Given the description of an element on the screen output the (x, y) to click on. 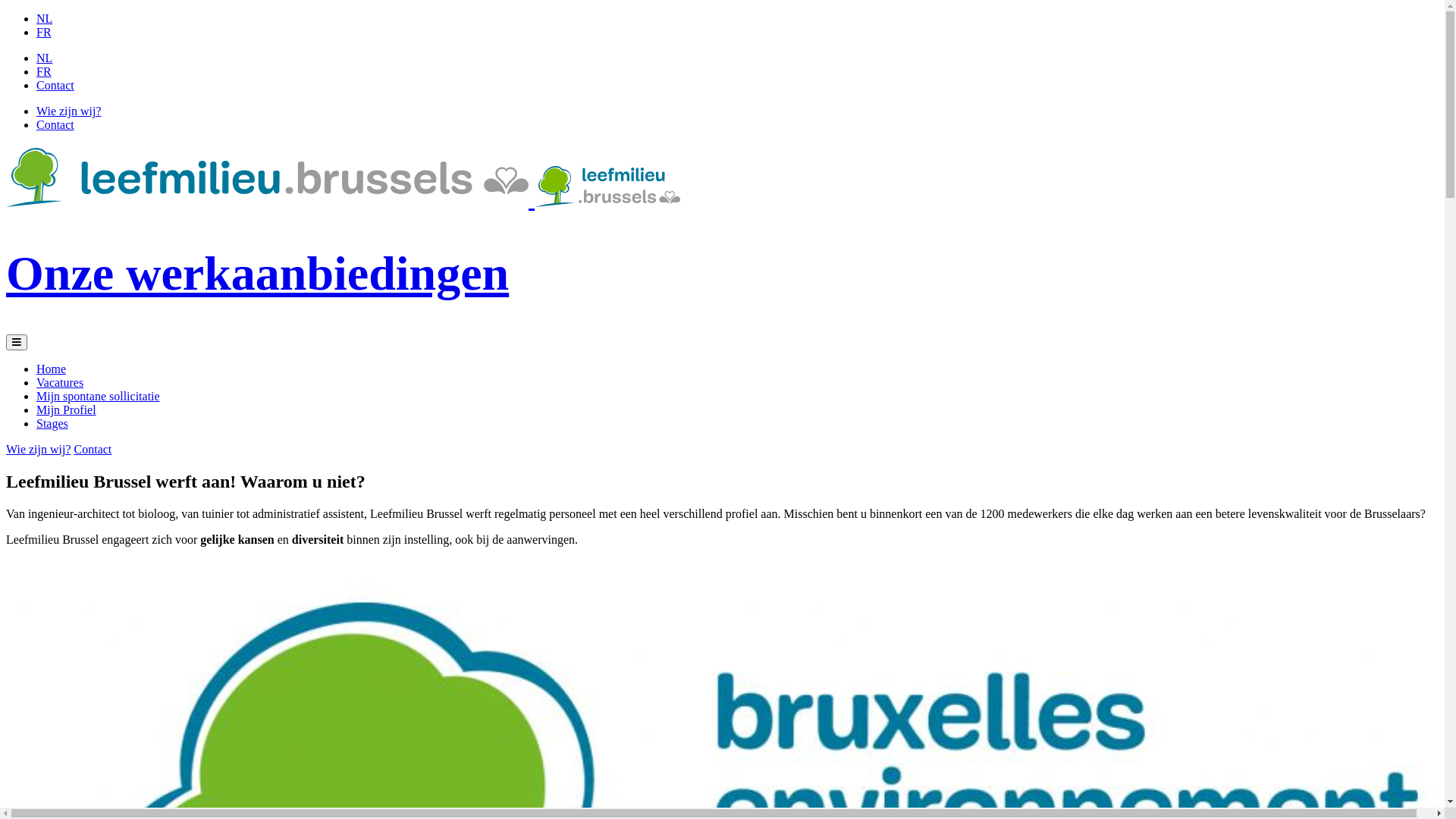
Contact Element type: text (93, 448)
Mijn Profiel Element type: text (66, 409)
FR Element type: text (43, 71)
Wie zijn wij? Element type: text (38, 448)
FR Element type: text (43, 31)
Onze werkaanbiedingen Element type: text (722, 224)
NL Element type: text (44, 57)
Home Element type: text (50, 368)
Ga naar hoofdinhoud Element type: text (5, 11)
Contact Element type: text (55, 124)
Mijn spontane sollicitatie Element type: text (98, 395)
Stages Element type: text (52, 423)
Contact Element type: text (55, 84)
Vacatures Element type: text (59, 382)
Wie zijn wij? Element type: text (68, 110)
NL Element type: text (44, 18)
